Given the description of an element on the screen output the (x, y) to click on. 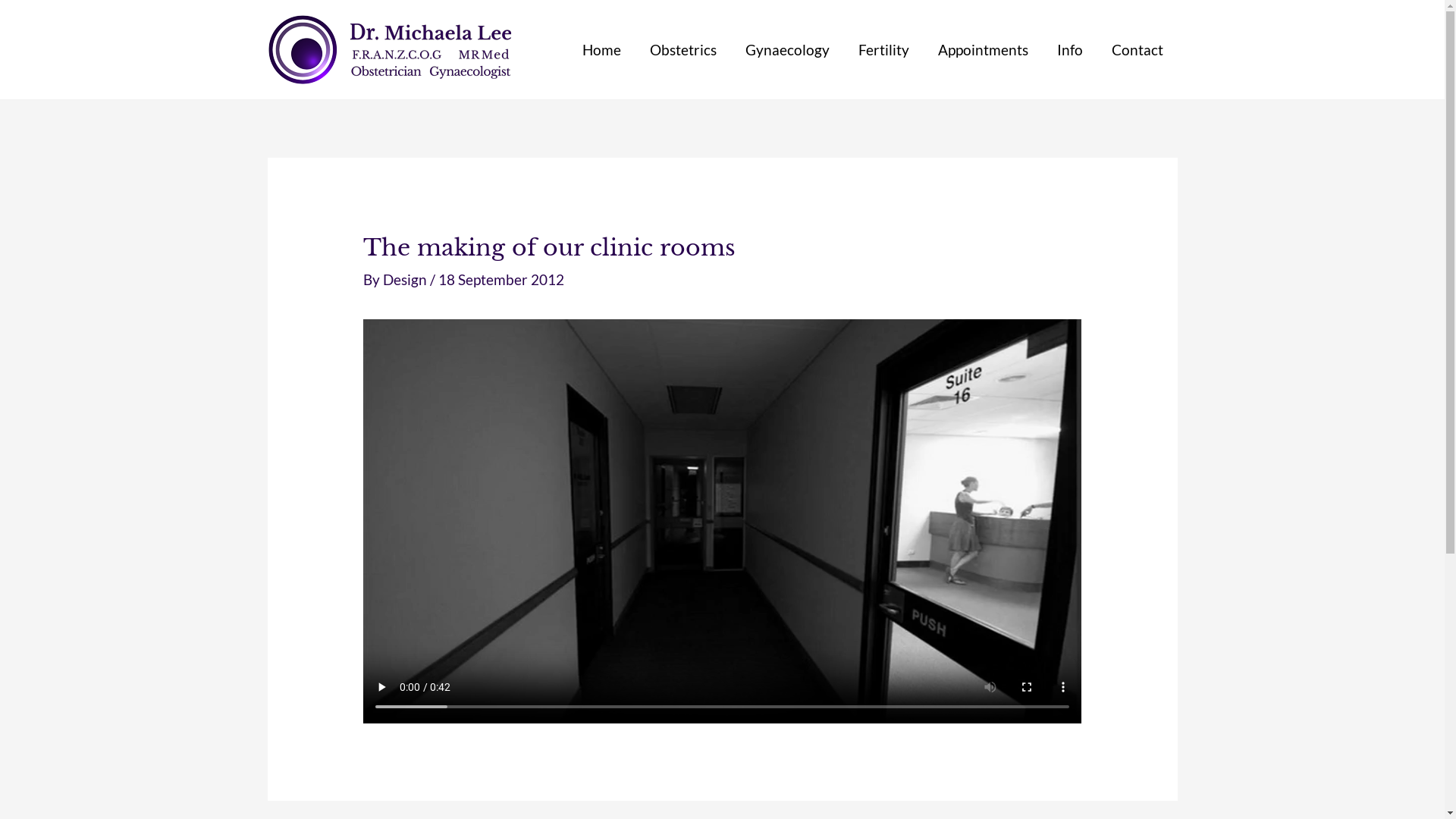
Design Element type: text (405, 279)
Obstetrics Element type: text (683, 49)
Gynaecology Element type: text (787, 49)
Contact Element type: text (1136, 49)
Home Element type: text (600, 49)
Appointments Element type: text (982, 49)
Fertility Element type: text (882, 49)
Info Element type: text (1068, 49)
